Given the description of an element on the screen output the (x, y) to click on. 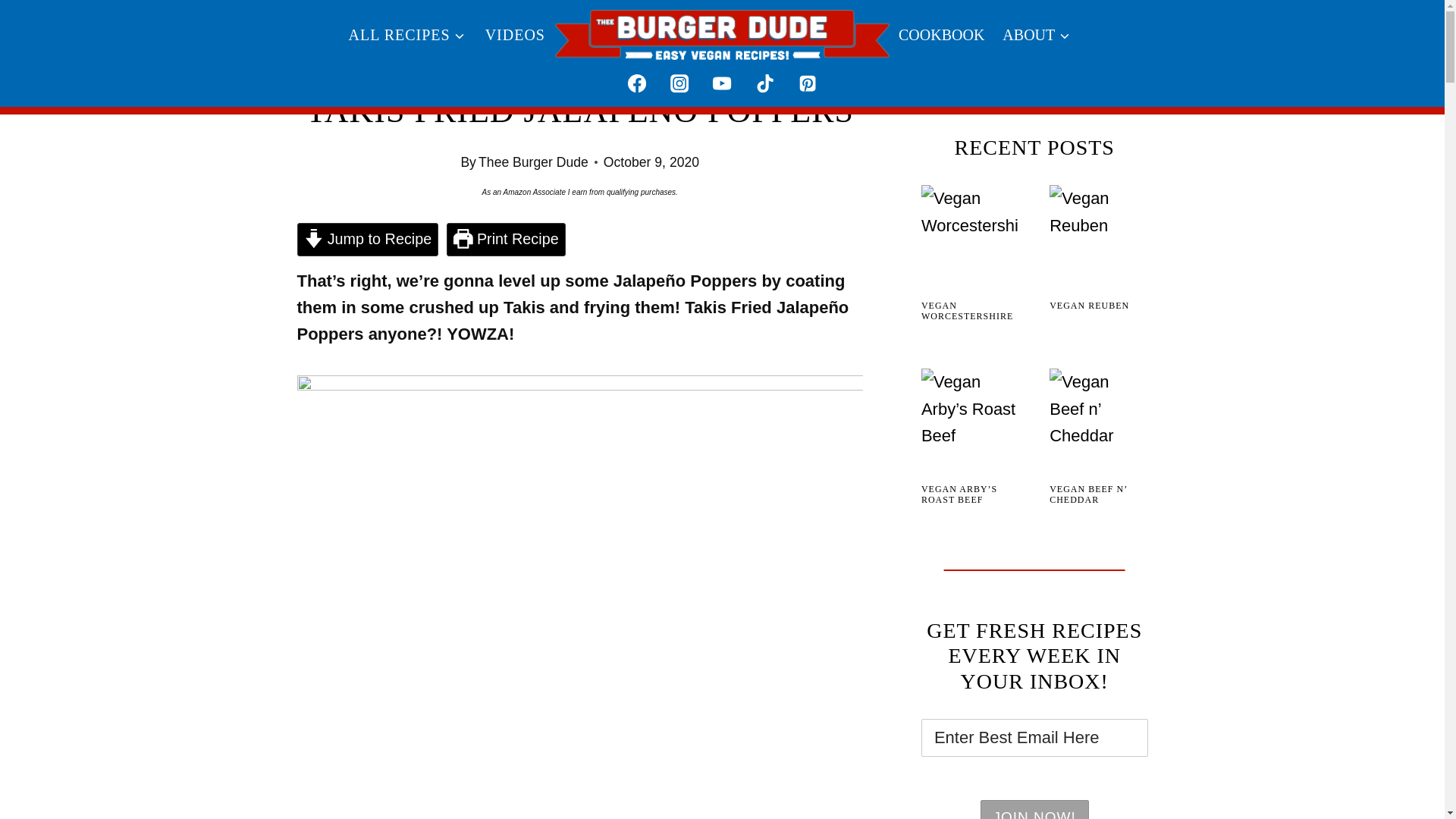
Jump to Recipe (368, 239)
Thee Burger Dude (533, 161)
BURGER DUDE ORIGINALS (445, 69)
Join Now! (1034, 809)
GAME DAY MEALS (596, 69)
ALL RECIPES (405, 34)
ABOUT (1035, 34)
VIDEOS (515, 34)
Print Recipe (506, 239)
COOKBOOK (940, 34)
